Given the description of an element on the screen output the (x, y) to click on. 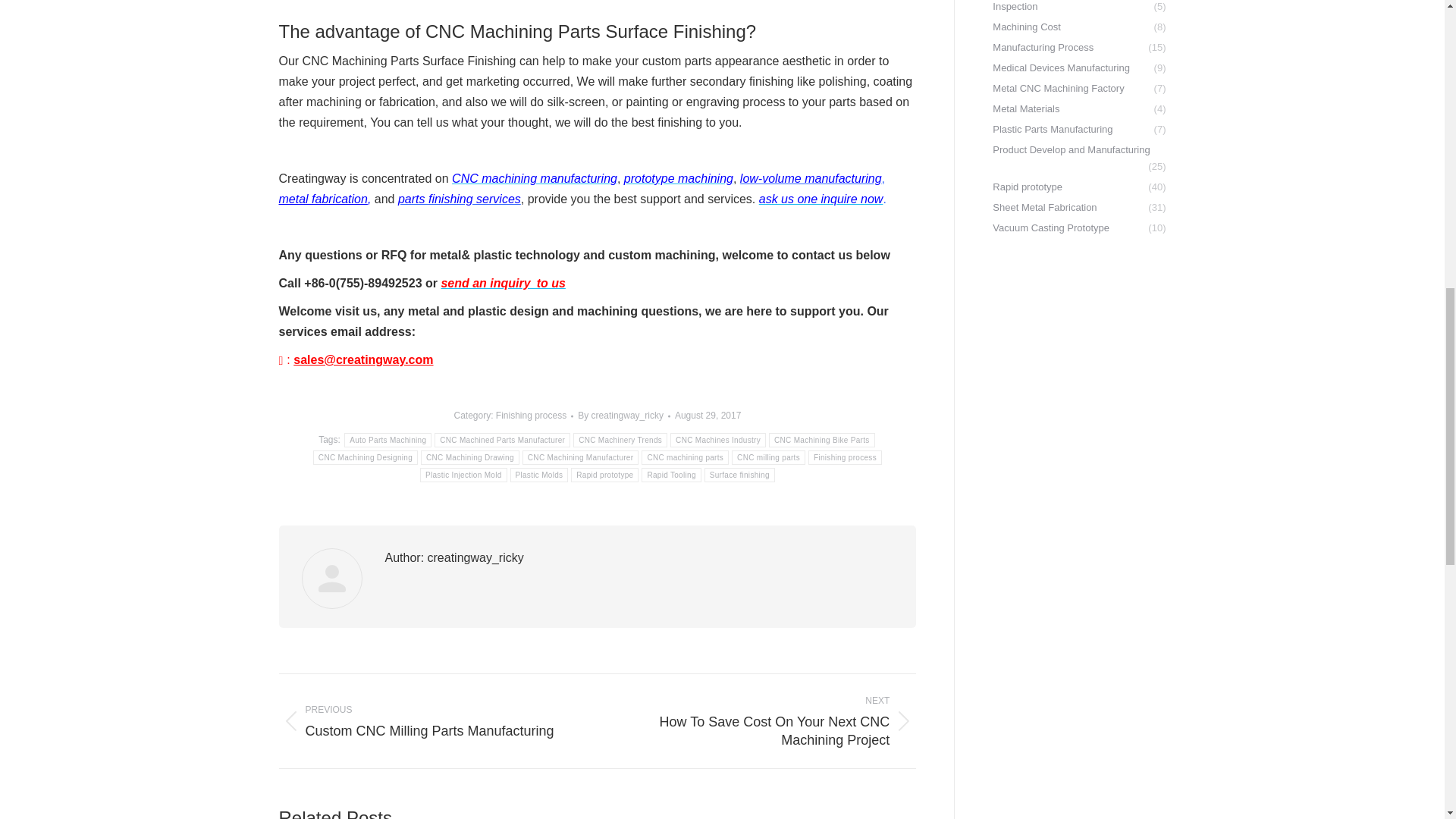
1:35 am (708, 415)
